Given the description of an element on the screen output the (x, y) to click on. 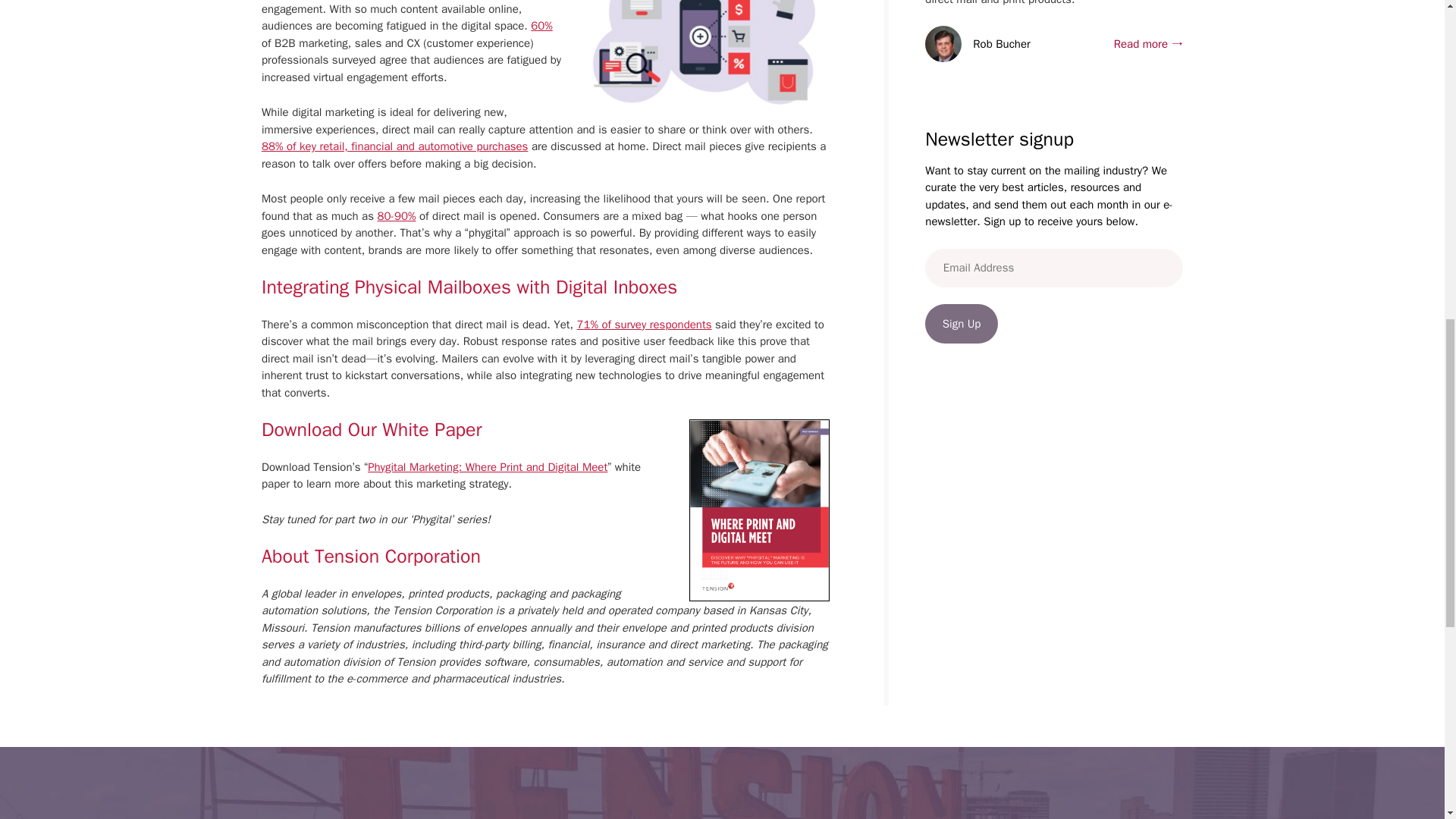
Sign Up (960, 323)
